Given the description of an element on the screen output the (x, y) to click on. 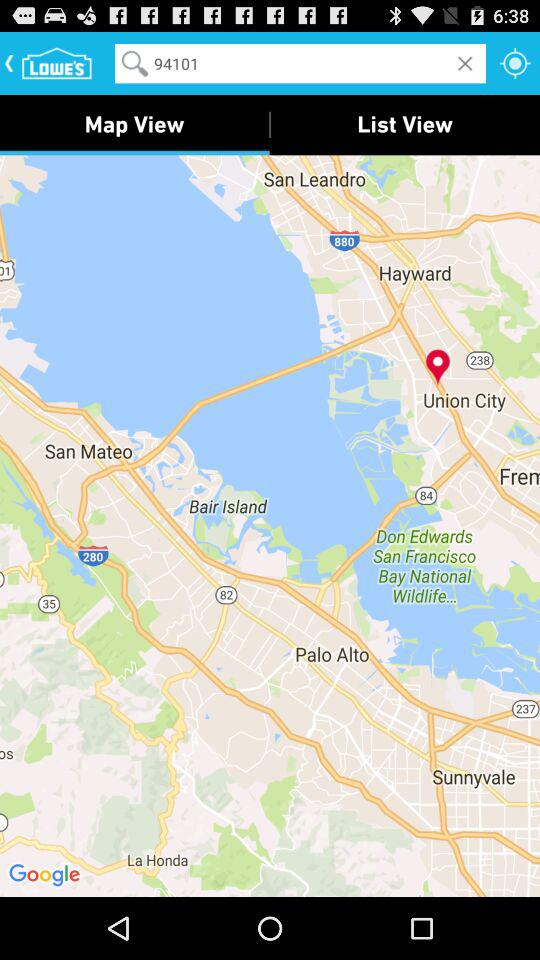
swipe until list view item (405, 124)
